Given the description of an element on the screen output the (x, y) to click on. 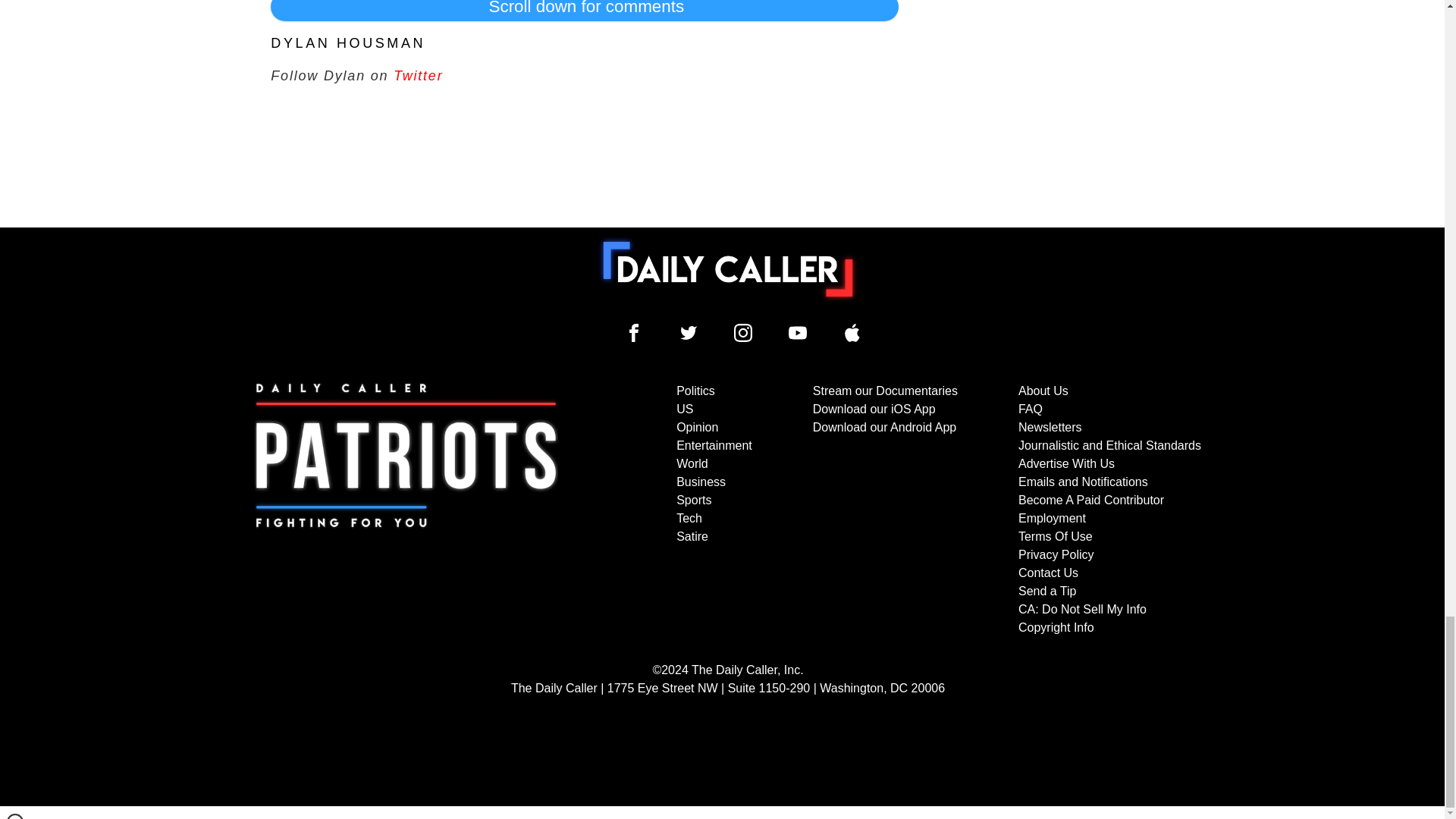
To home page (727, 268)
Daily Caller Facebook (633, 332)
Daily Caller Instagram (742, 332)
Daily Caller Twitter (688, 332)
Daily Caller YouTube (852, 332)
Scroll down for comments (584, 10)
Subscribe to The Daily Caller (405, 509)
Daily Caller YouTube (797, 332)
